Given the description of an element on the screen output the (x, y) to click on. 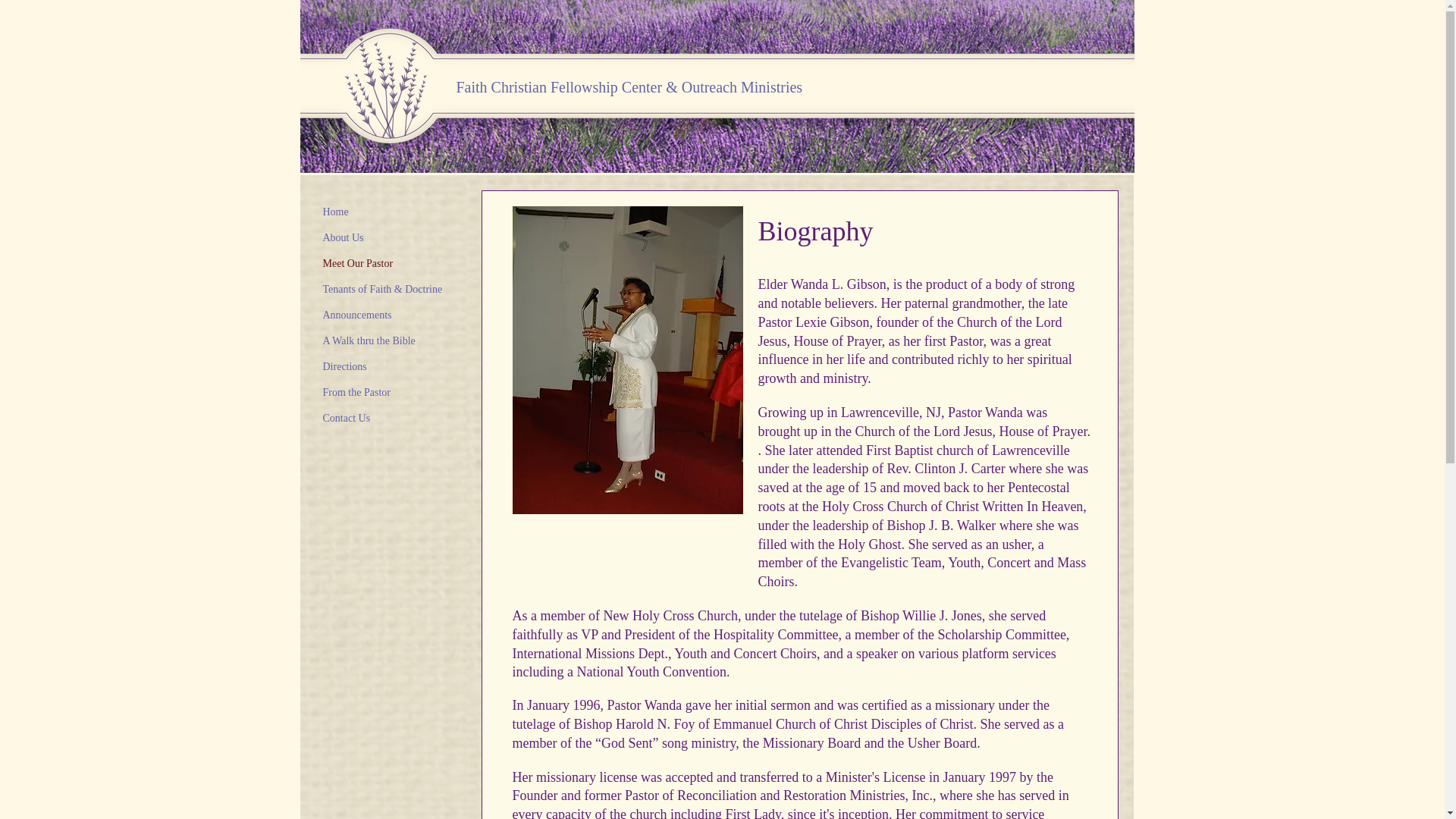
A Walk thru the Bible (369, 340)
From the Pastor (356, 392)
Contact Us (346, 417)
Directions (344, 366)
Home (335, 211)
Announcements (356, 314)
Meet Our Pastor (358, 263)
About Us (343, 237)
